Given the description of an element on the screen output the (x, y) to click on. 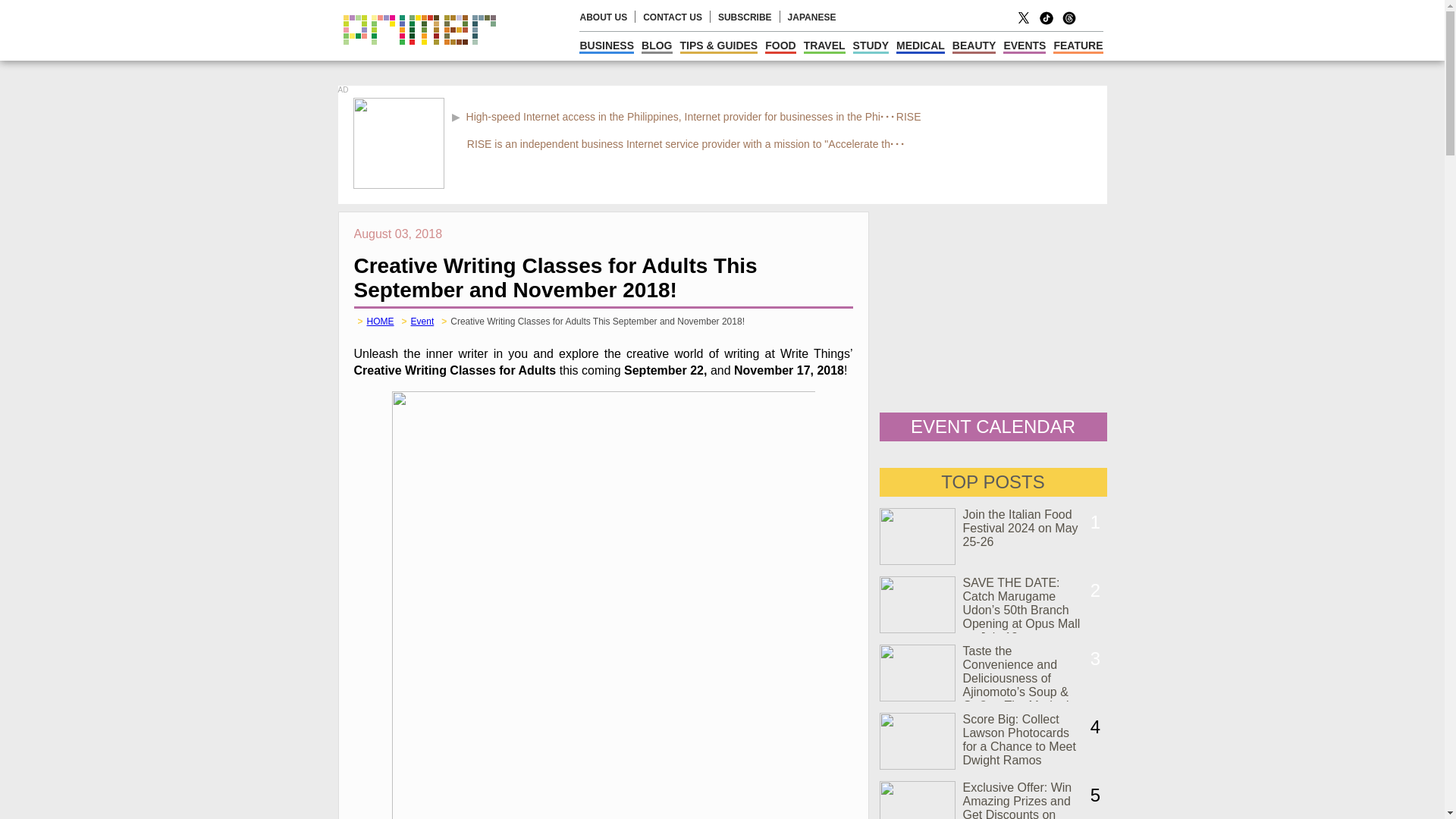
FOOD (779, 45)
MEDICAL (920, 45)
BEAUTY (973, 45)
EVENTS (1024, 45)
STUDY (870, 45)
Contact Us (672, 17)
FEATURE (1077, 45)
BUSINESS (606, 45)
THreads (1069, 22)
About Us (603, 17)
